Given the description of an element on the screen output the (x, y) to click on. 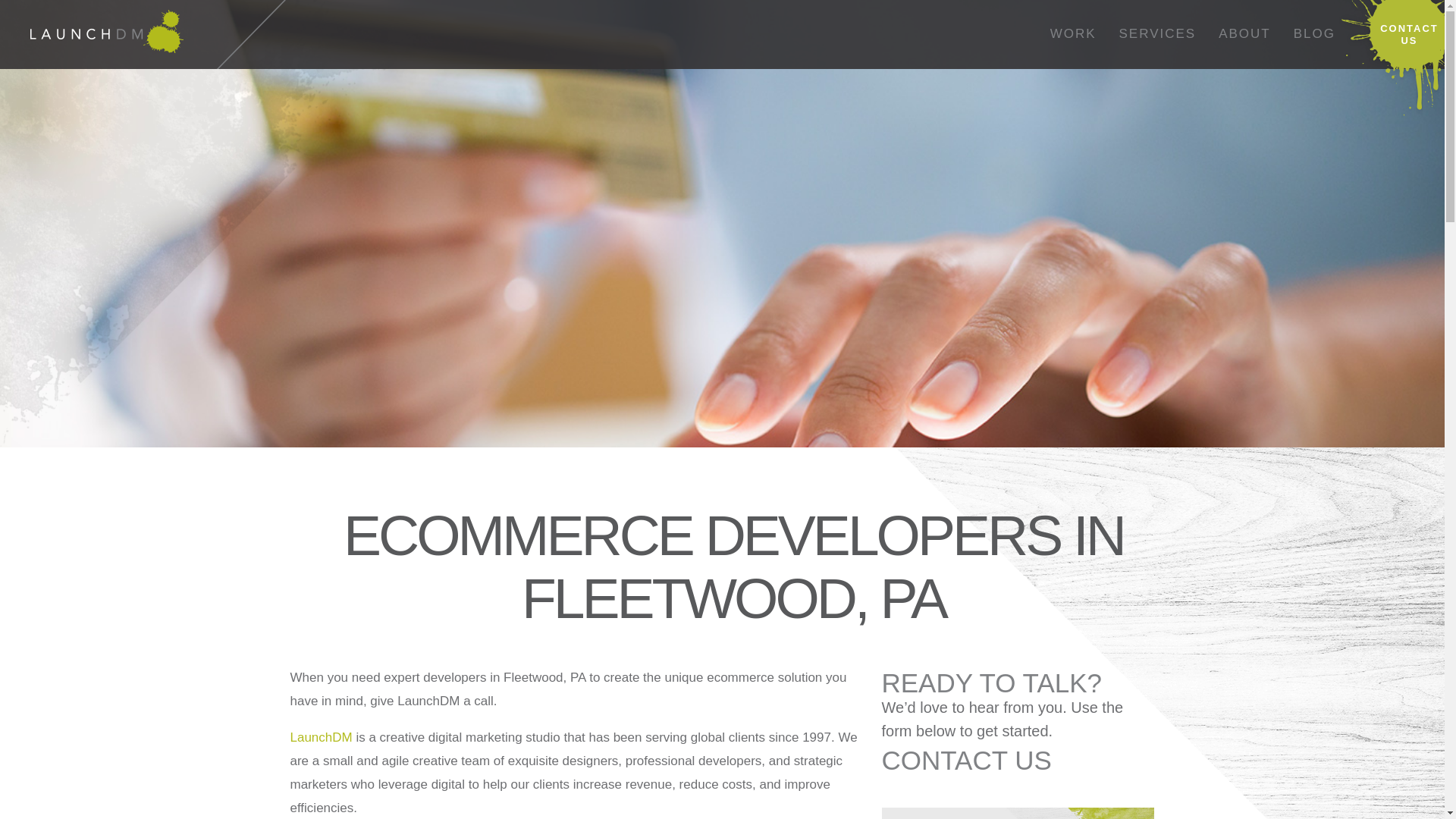
Services (1158, 34)
About (1244, 34)
LaunchDM (320, 737)
ABOUT (1244, 34)
SERVICES (1158, 34)
WORK (1073, 34)
Work (1073, 34)
BLOG (1314, 34)
Blog (1314, 34)
